Given the description of an element on the screen output the (x, y) to click on. 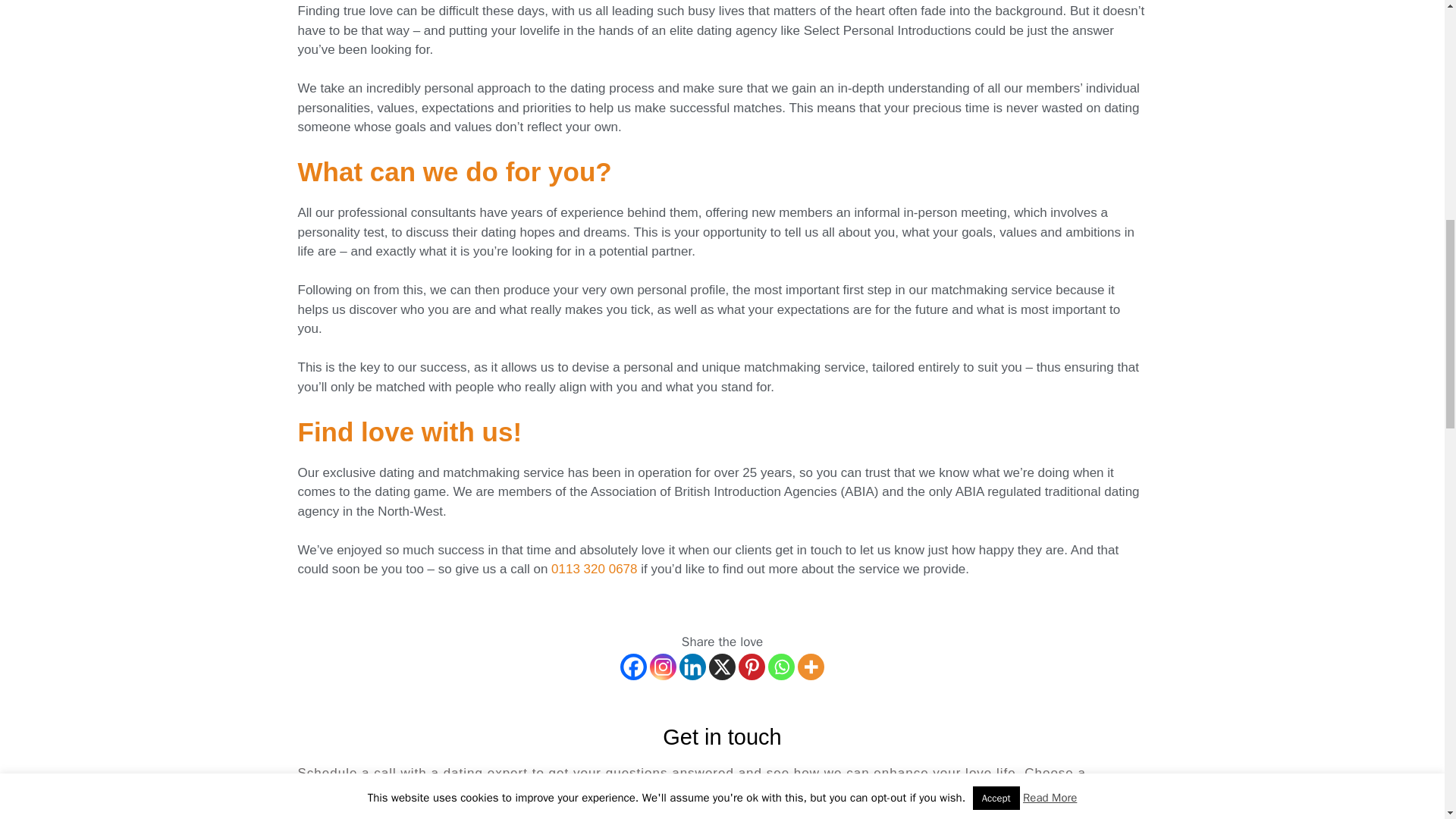
Facebook (633, 666)
